Given the description of an element on the screen output the (x, y) to click on. 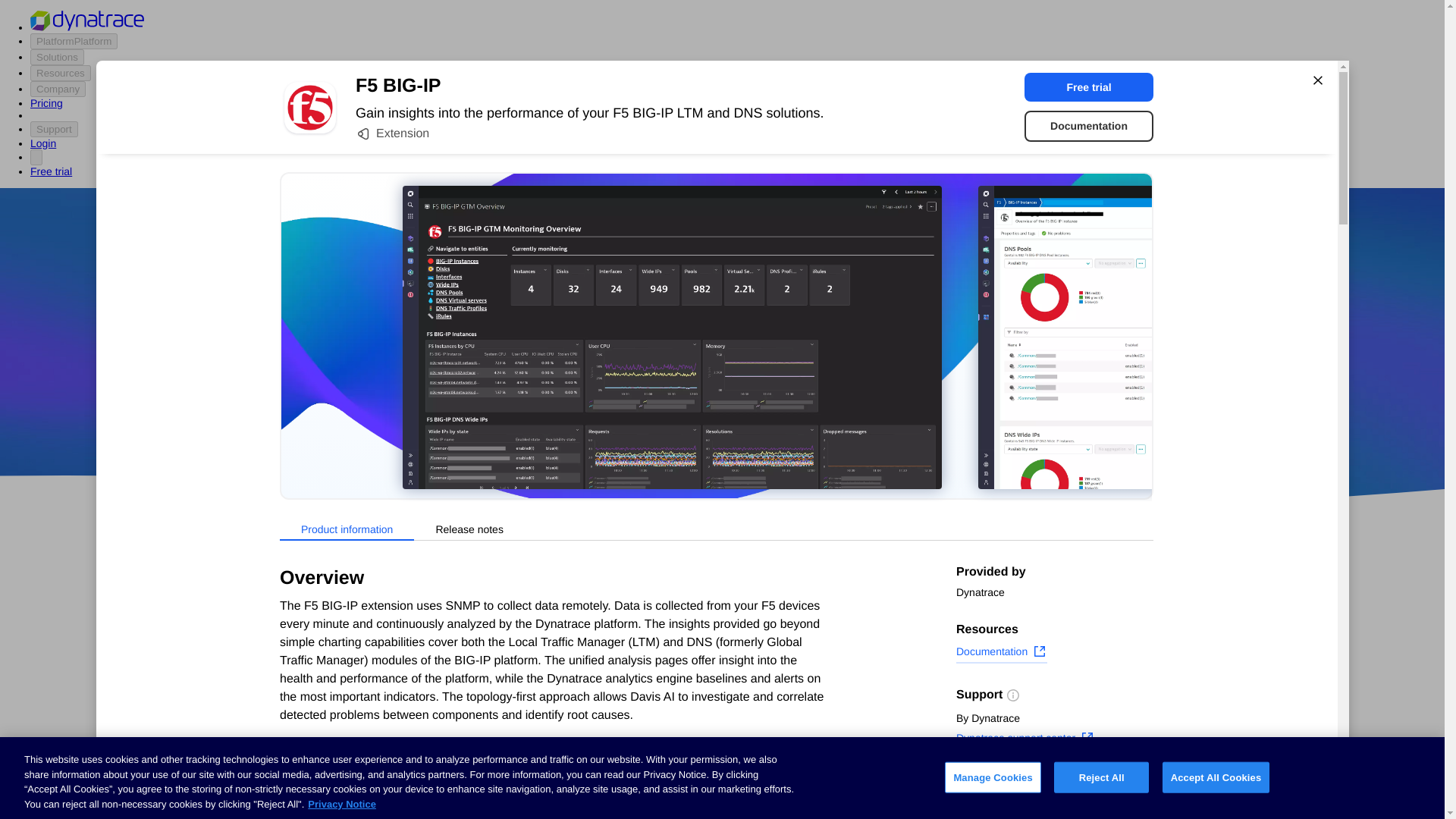
Documentation (1089, 125)
Advanced SSL Certificate Check for Dynatrace (606, 731)
360performance (840, 375)
AWS (637, 418)
Documentation (1001, 653)
DevOps (829, 418)
Free trial (1089, 86)
360performance (840, 375)
Azure (681, 418)
 certificate ssl synthetic test (607, 793)
Open source (903, 418)
Copy page link (1003, 806)
Dynatrace support center (1025, 740)
Google Cloud (751, 418)
Subscribe to new releases (1054, 782)
